Given the description of an element on the screen output the (x, y) to click on. 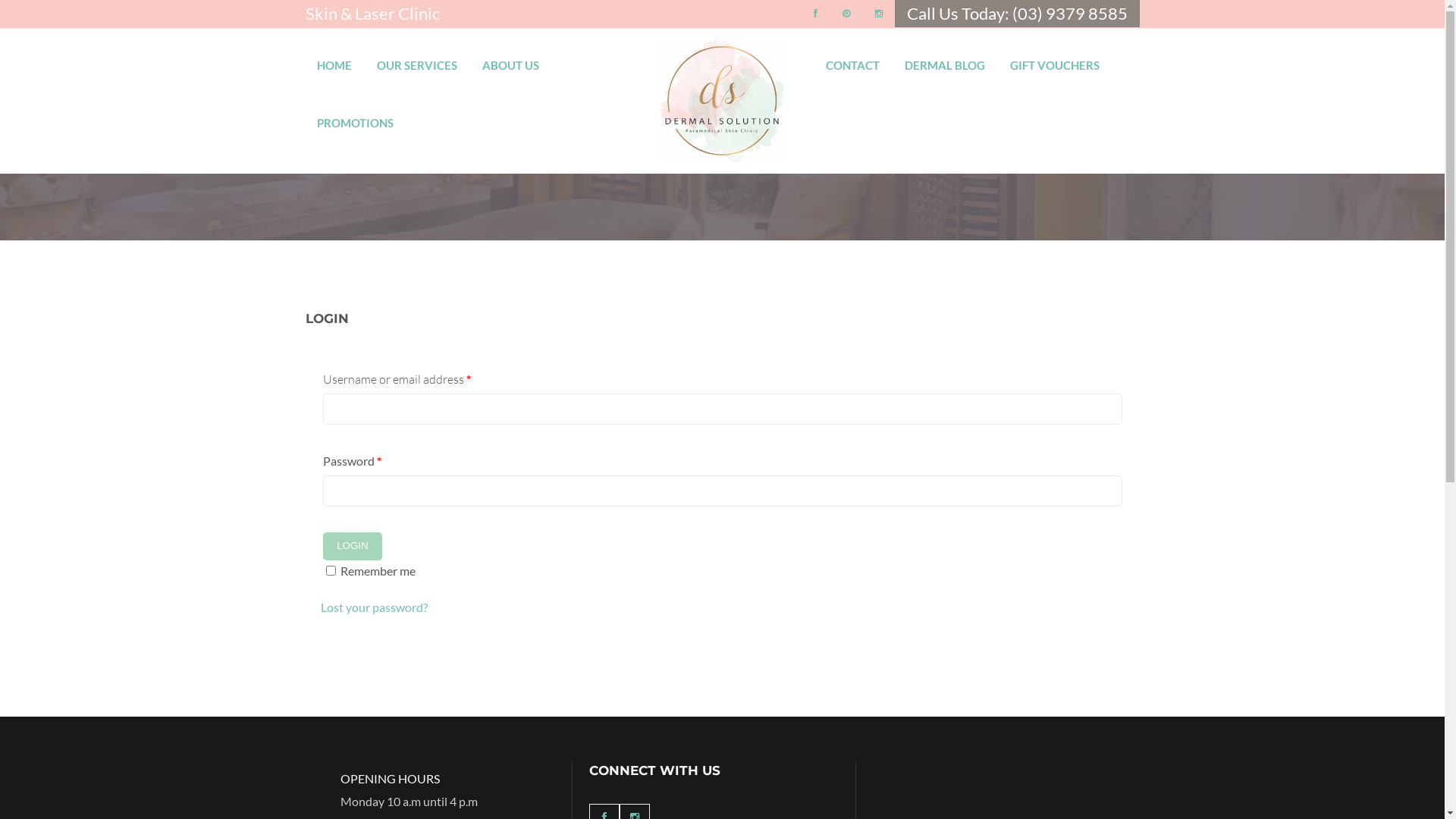
DERMAL BLOG Element type: text (944, 58)
Lost your password? Element type: text (373, 606)
HOME Element type: text (333, 58)
Call Us Today: (03) 9379 8585 Element type: text (1016, 13)
OUR SERVICES Element type: text (416, 58)
Login Element type: text (352, 546)
CONTACT Element type: text (852, 58)
PROMOTIONS Element type: text (354, 116)
Confirm Element type: text (740, 564)
ABOUT US Element type: text (510, 58)
GIFT VOUCHERS Element type: text (1054, 58)
